Given the description of an element on the screen output the (x, y) to click on. 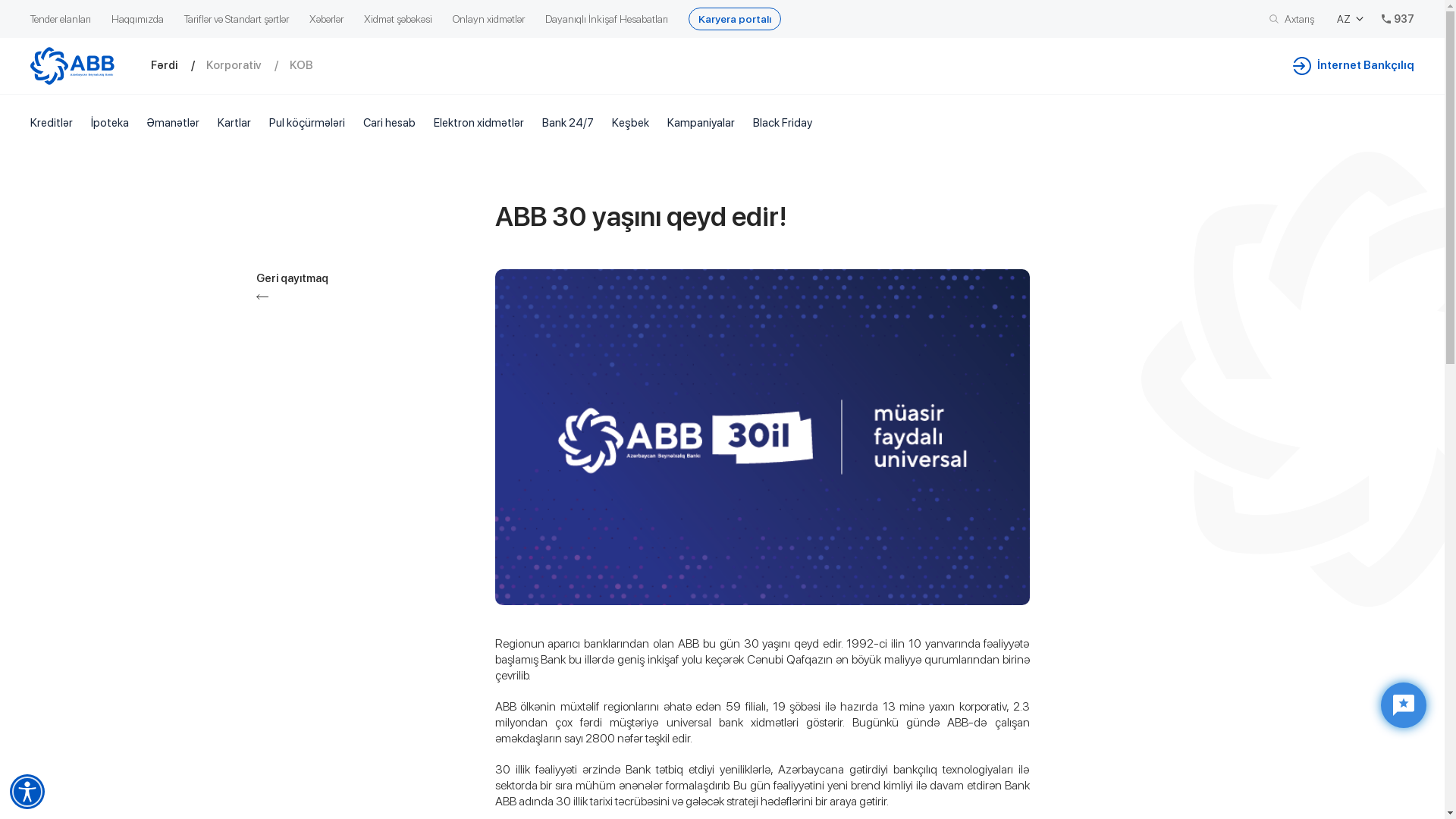
Kampaniyalar Element type: text (700, 122)
Cari hesab Element type: text (389, 122)
Black Friday Element type: text (782, 122)
KOB Element type: text (312, 65)
Korporativ Element type: text (247, 65)
Bank 24/7 Element type: text (567, 122)
937 Element type: text (1397, 18)
Kartlar Element type: text (234, 122)
